Given the description of an element on the screen output the (x, y) to click on. 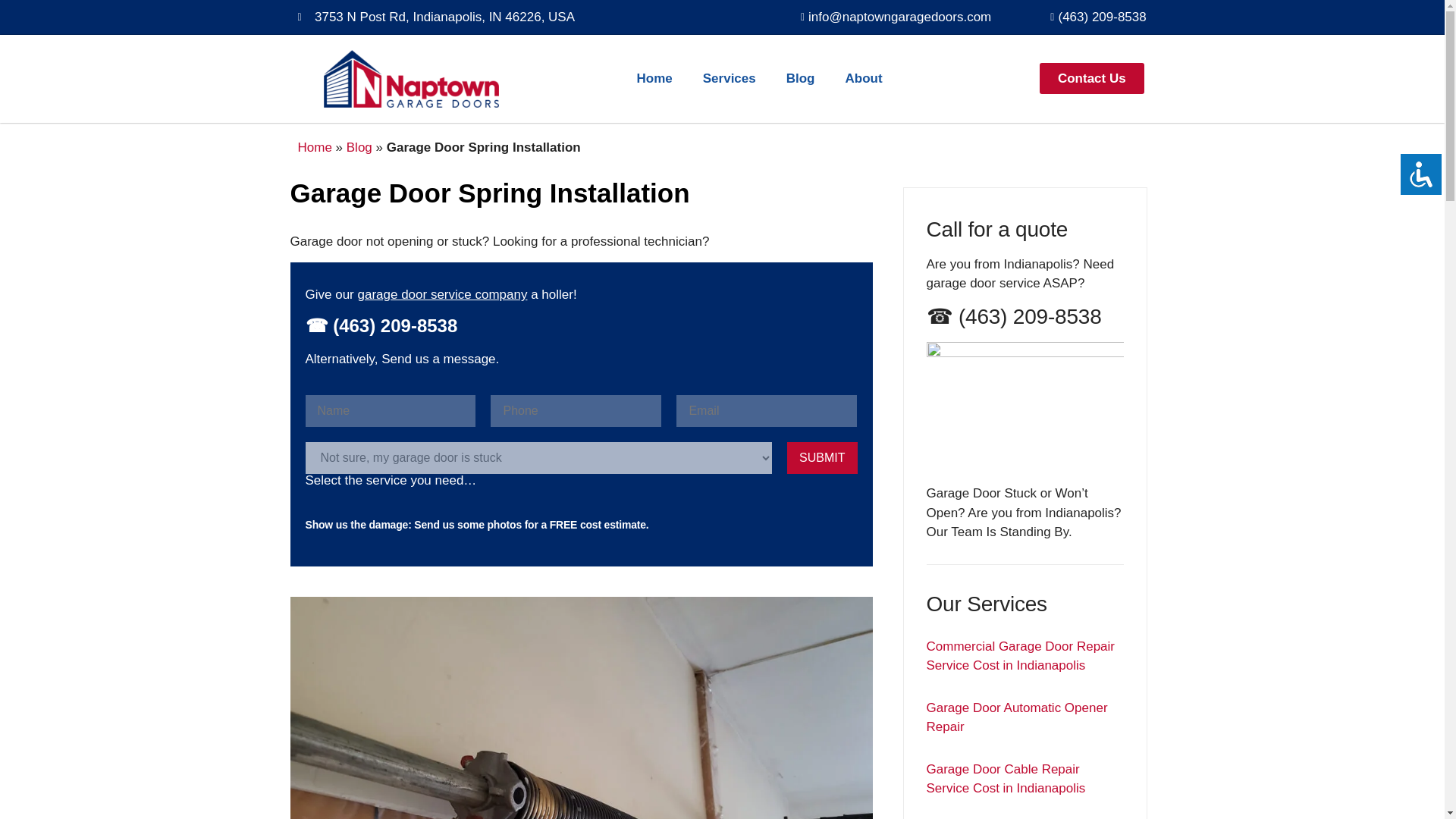
About (862, 77)
Home (314, 146)
garage door service company (441, 294)
Contact Us (1091, 78)
Blog (359, 146)
submit (822, 458)
Blog (800, 77)
Services (729, 77)
Home (654, 77)
submit (822, 458)
